Given the description of an element on the screen output the (x, y) to click on. 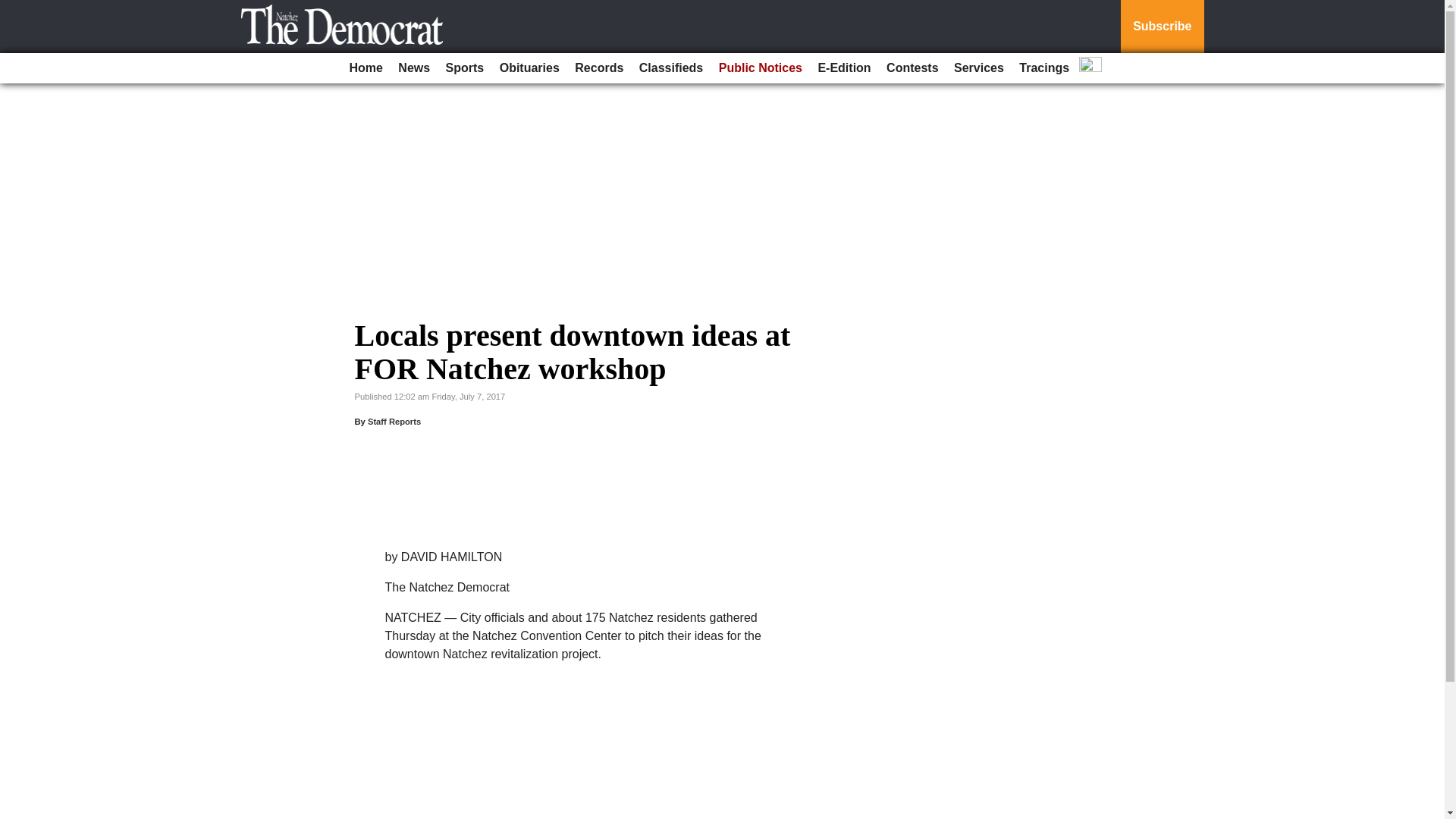
Go (13, 9)
Classifieds (671, 68)
Sports (464, 68)
Records (598, 68)
Staff Reports (394, 420)
Public Notices (760, 68)
Home (365, 68)
E-Edition (843, 68)
News (413, 68)
Obituaries (529, 68)
